Given the description of an element on the screen output the (x, y) to click on. 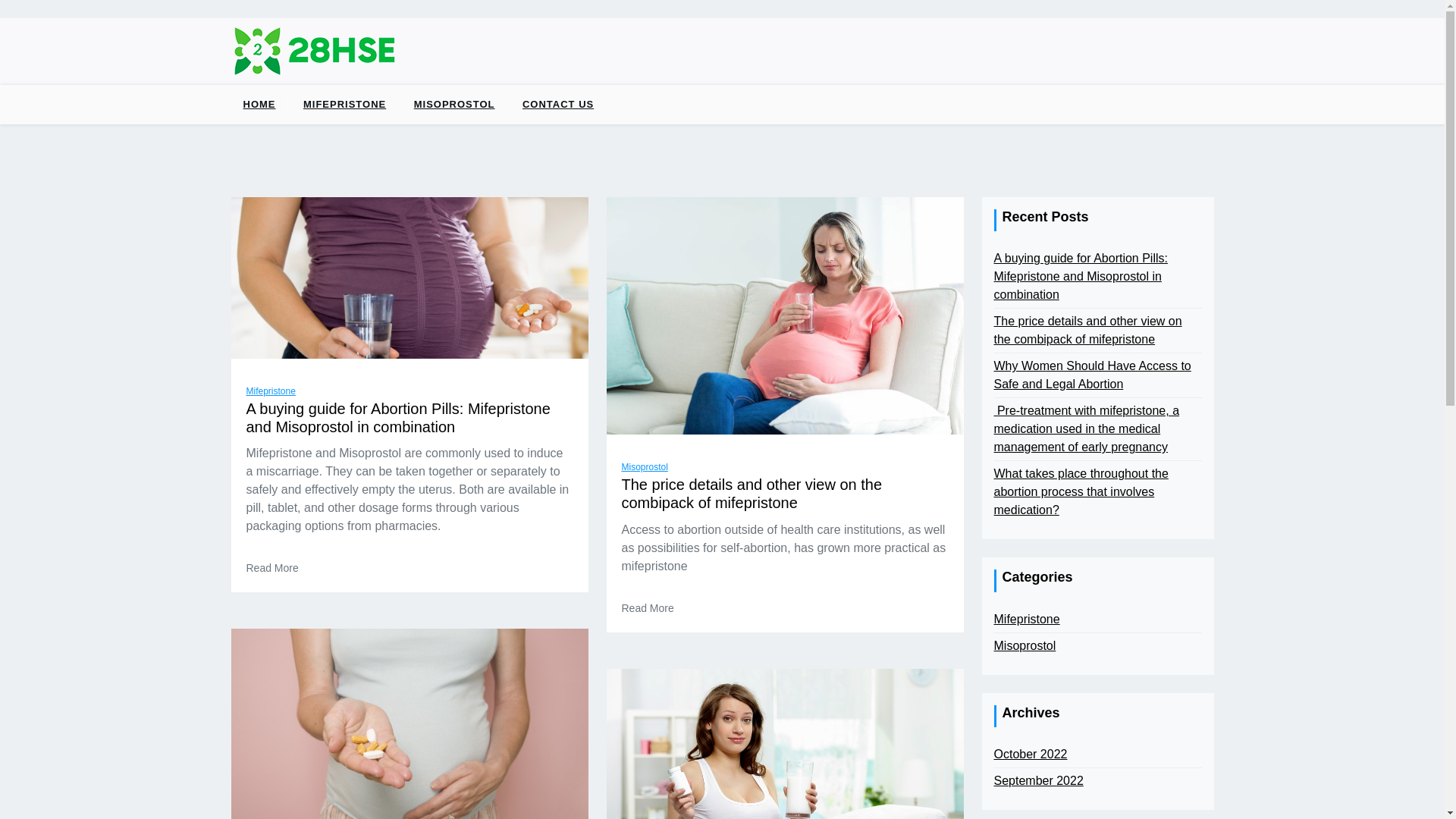
MIFEPRISTONE Element type: text (344, 104)
HOME Element type: text (258, 104)
Misoprostol Element type: text (1024, 646)
Mifepristone Element type: text (269, 391)
Mifepristone Element type: text (1026, 619)
CONTACT US Element type: text (557, 104)
September 2022 Element type: text (1037, 780)
MISOPROSTOL Element type: text (454, 104)
Read More Element type: text (271, 568)
Misoprostol Element type: text (644, 466)
October 2022 Element type: text (1029, 754)
Read More Element type: text (647, 608)
Why Women Should Have Access to Safe and Legal Abortion Element type: text (1097, 375)
